Given the description of an element on the screen output the (x, y) to click on. 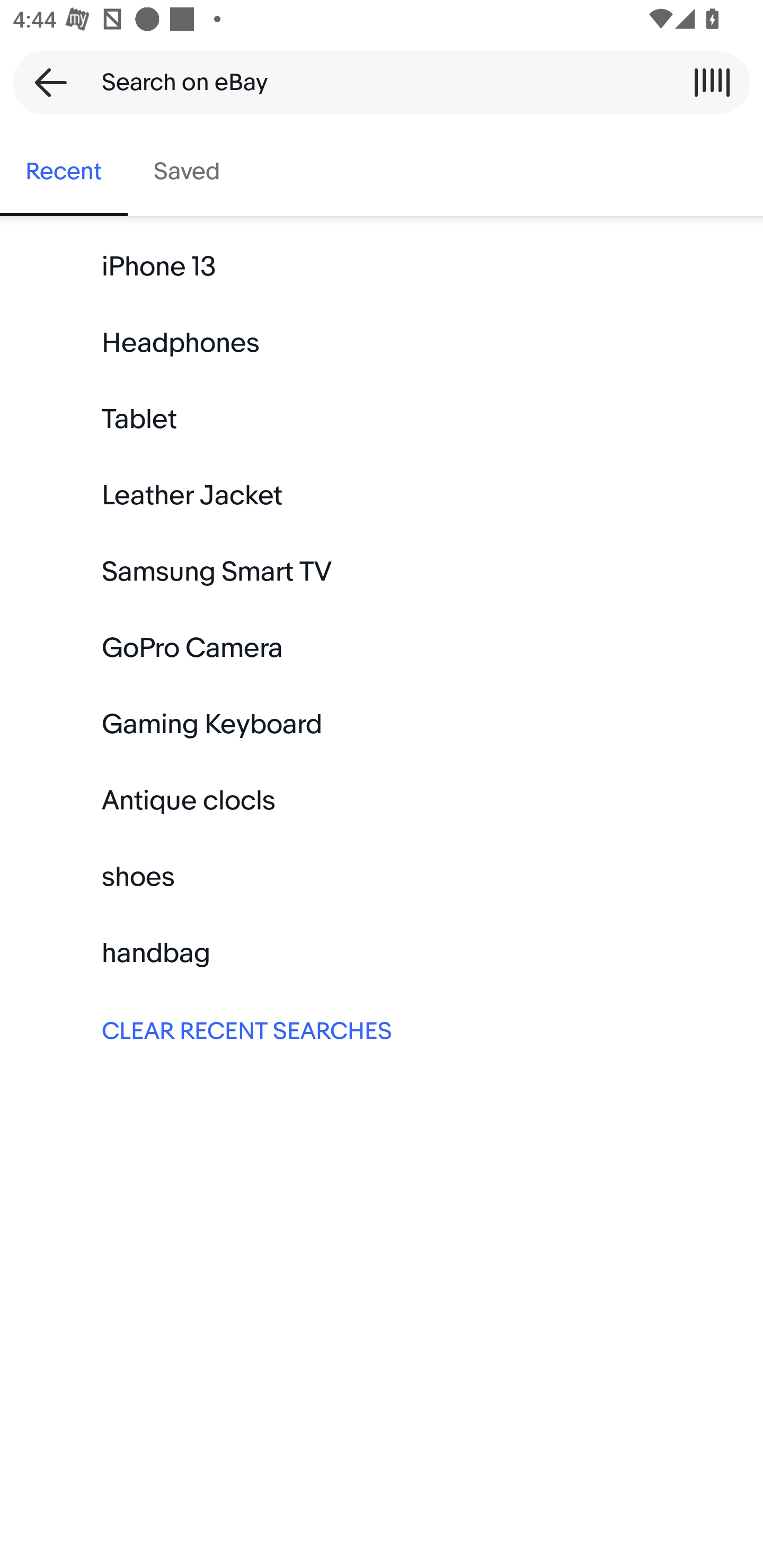
Back (44, 82)
Scan a barcode (711, 82)
Search on eBay (375, 82)
Saved, tab 2 of 2 Saved (186, 171)
iPhone 13 Keyword search iPhone 13: (381, 266)
Headphones Keyword search Headphones: (381, 343)
Tablet Keyword search Tablet: (381, 419)
Leather Jacket Keyword search Leather Jacket: (381, 495)
Samsung Smart TV Keyword search Samsung Smart TV: (381, 571)
GoPro Camera Keyword search GoPro Camera: (381, 647)
Gaming Keyboard Keyword search Gaming Keyboard: (381, 724)
Antique clocls Keyword search Antique clocls: (381, 800)
shoes Keyword search shoes: (381, 876)
handbag Keyword search handbag: (381, 952)
CLEAR RECENT SEARCHES (381, 1028)
